Given the description of an element on the screen output the (x, y) to click on. 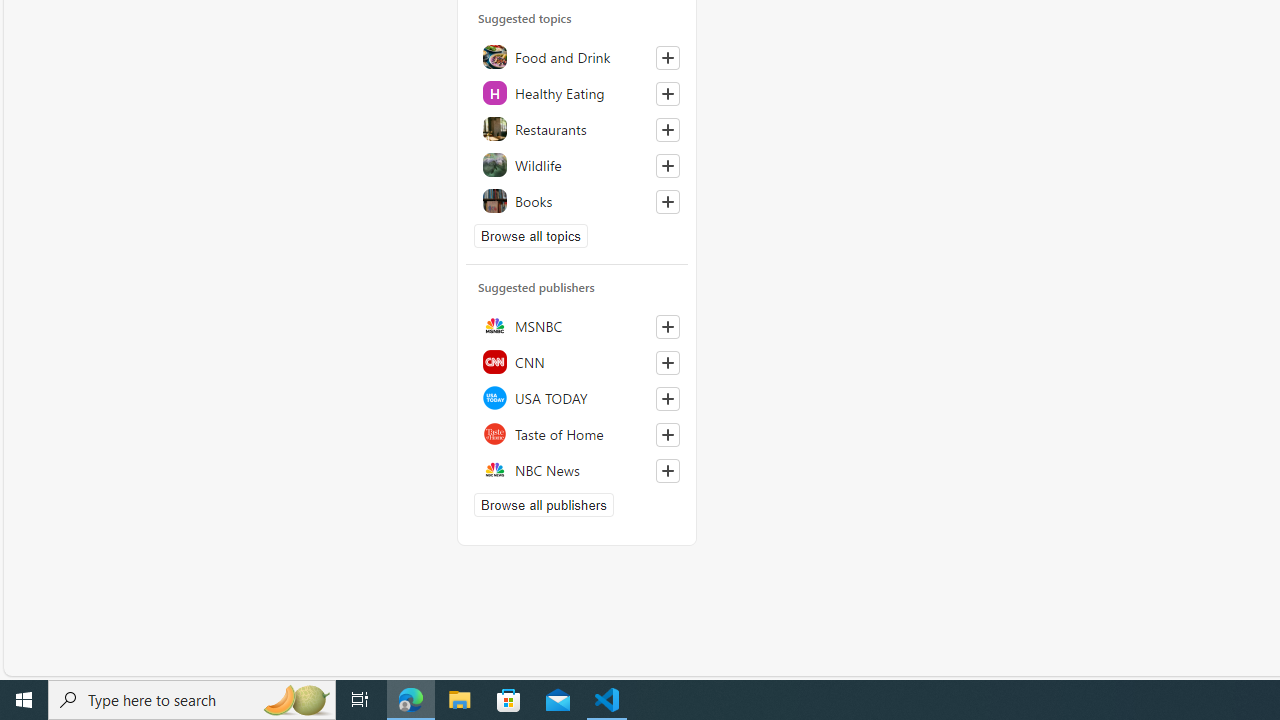
CNN (577, 361)
Follow this topic (667, 201)
